Given the description of an element on the screen output the (x, y) to click on. 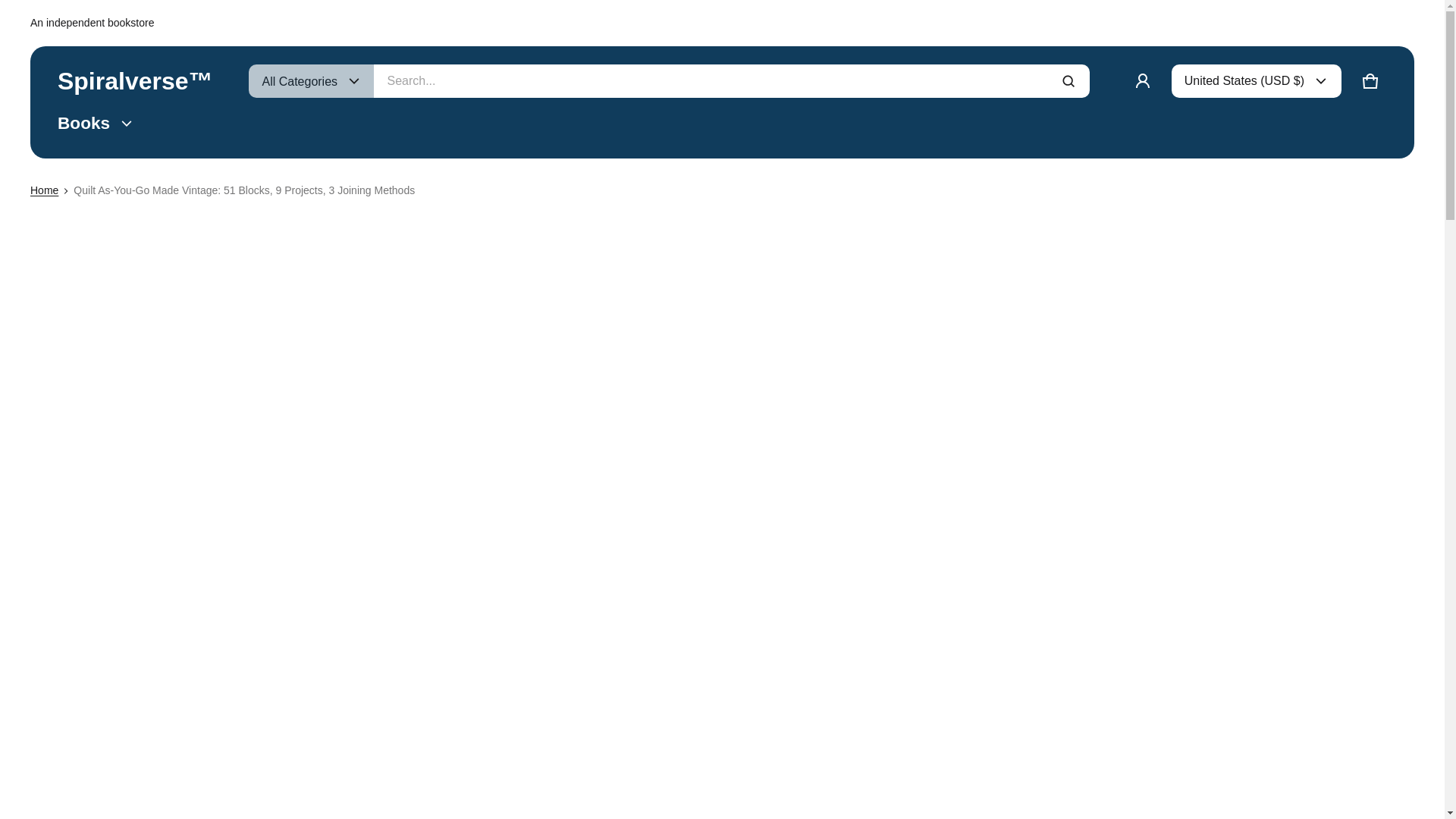
Home (44, 190)
